Given the description of an element on the screen output the (x, y) to click on. 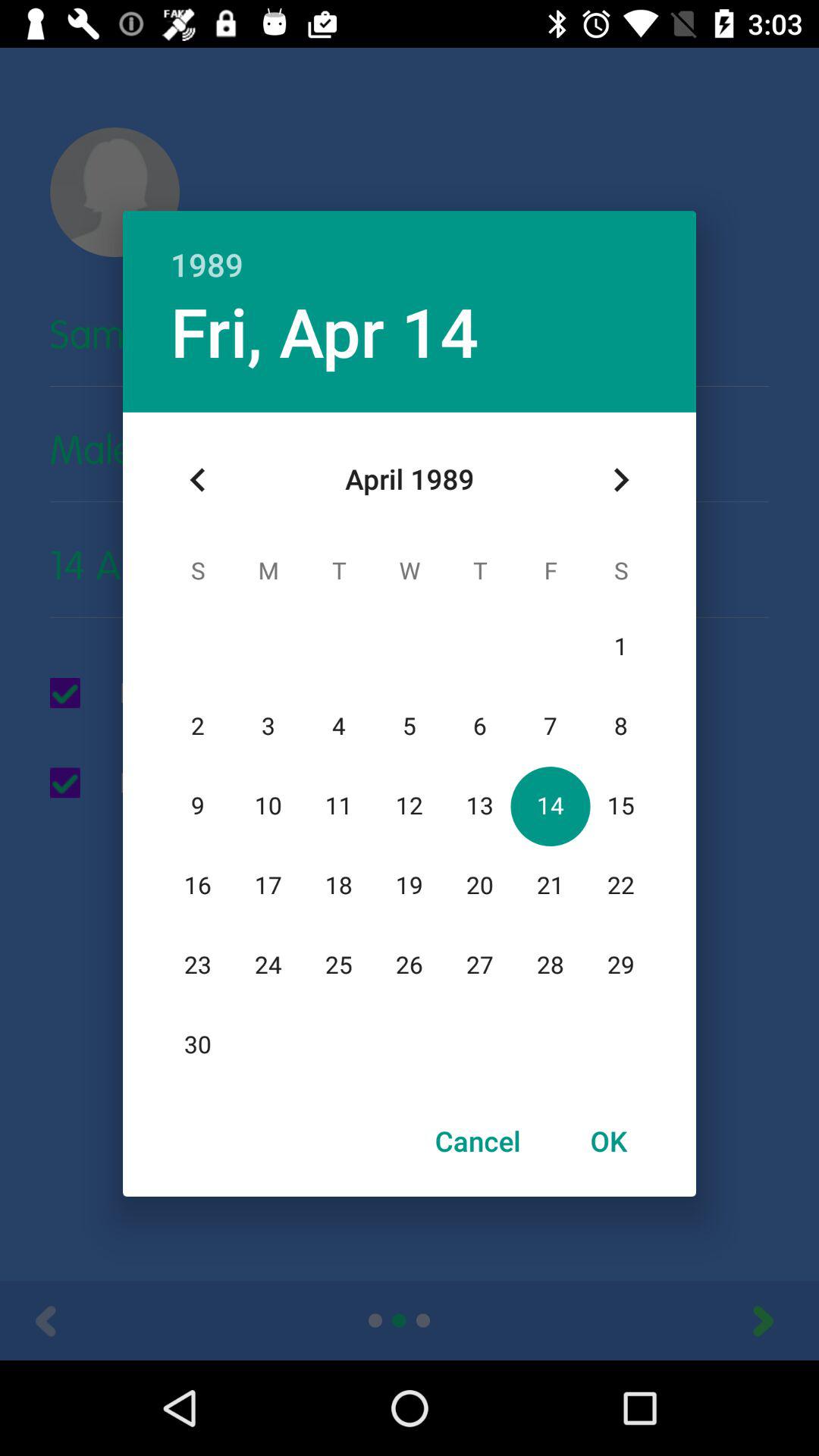
choose item next to cancel icon (608, 1140)
